Given the description of an element on the screen output the (x, y) to click on. 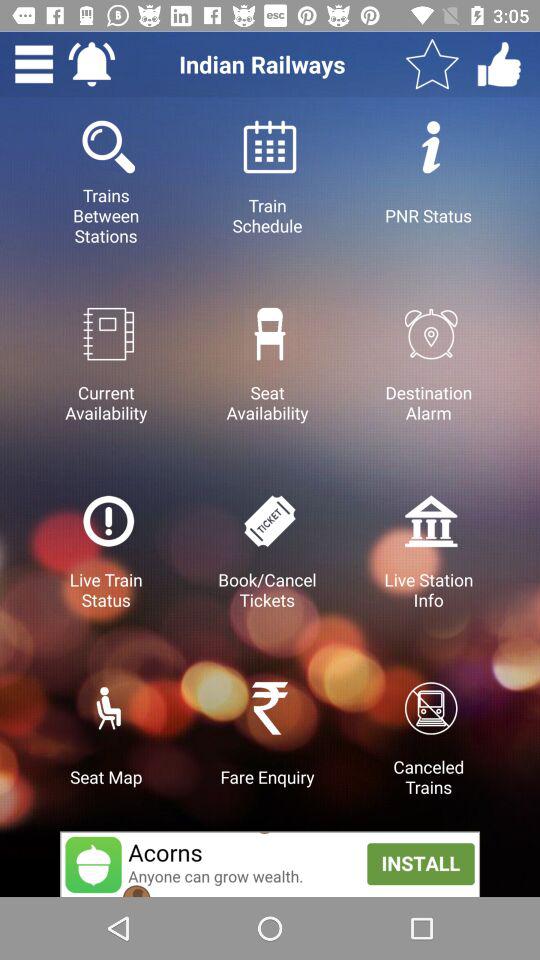
bell notification (91, 64)
